Given the description of an element on the screen output the (x, y) to click on. 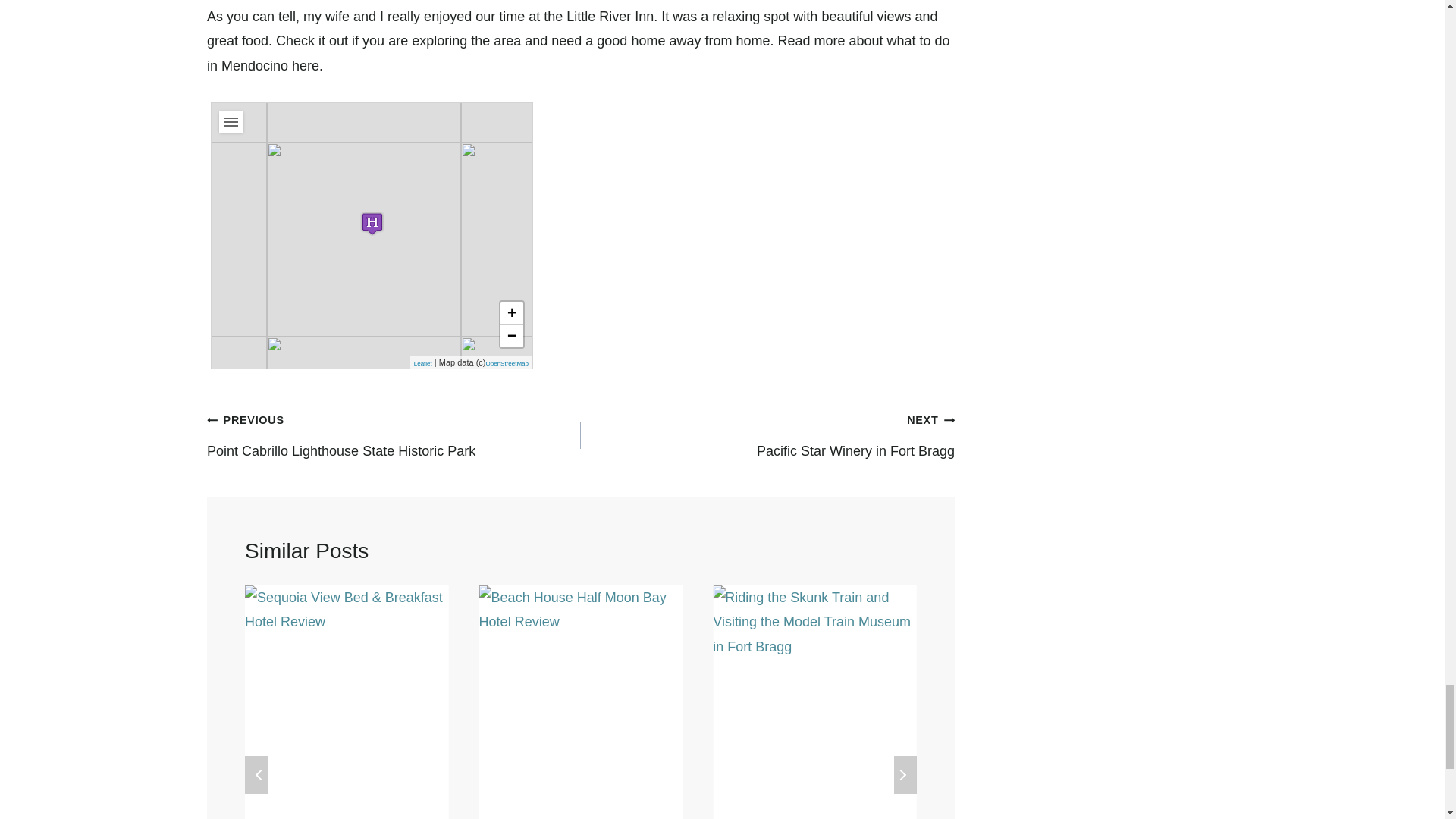
Menu (231, 121)
A JS library for interactive maps (422, 363)
Little River Inn (371, 223)
